Given the description of an element on the screen output the (x, y) to click on. 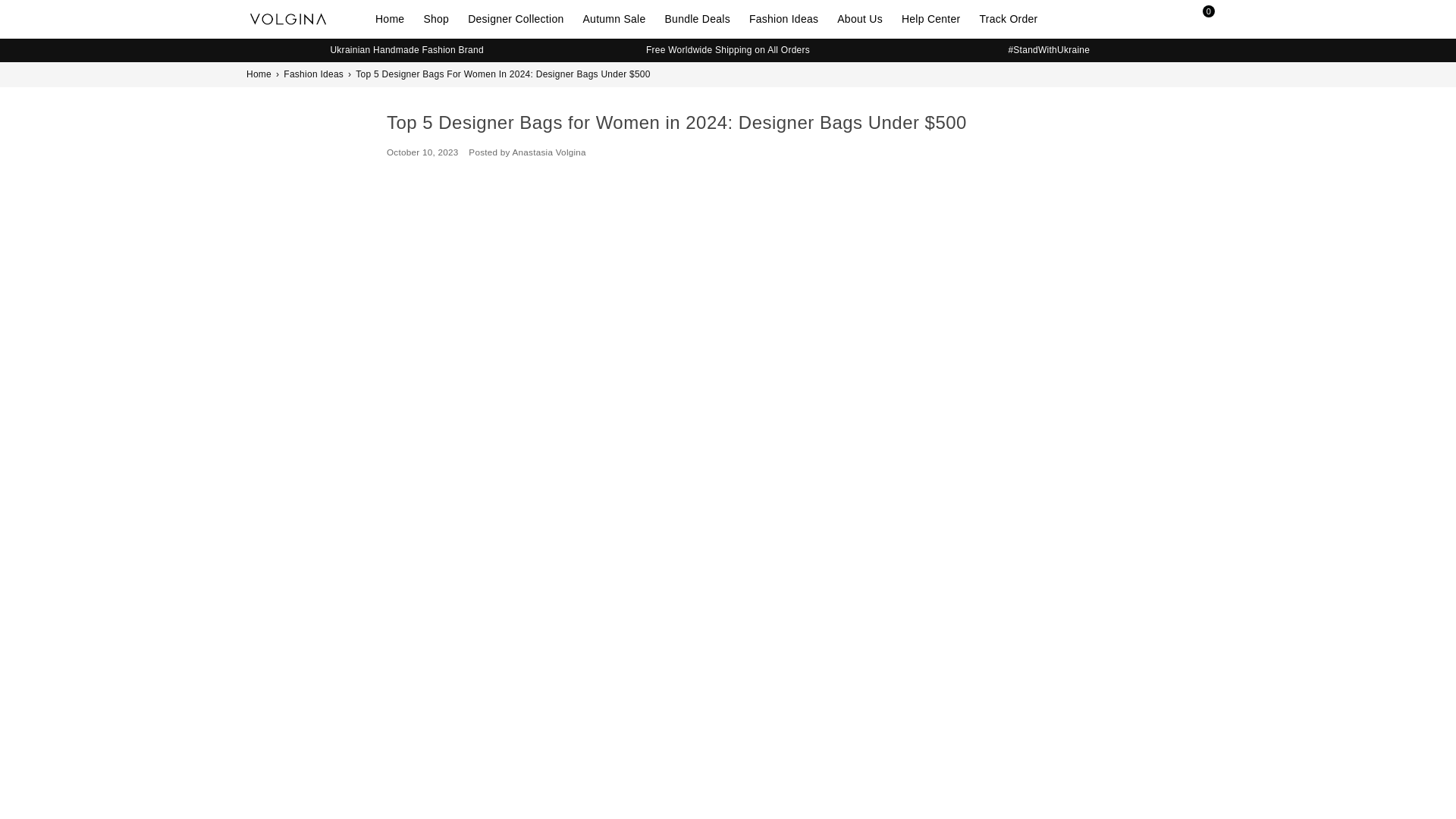
Autumn Sale (619, 18)
Designer Collection (521, 18)
Back to the home page (259, 74)
About Us (865, 18)
Search (1168, 18)
Help Center (936, 18)
Bundle Deals (703, 18)
Shop (441, 18)
Home (394, 18)
Fashion Ideas (789, 18)
